Given the description of an element on the screen output the (x, y) to click on. 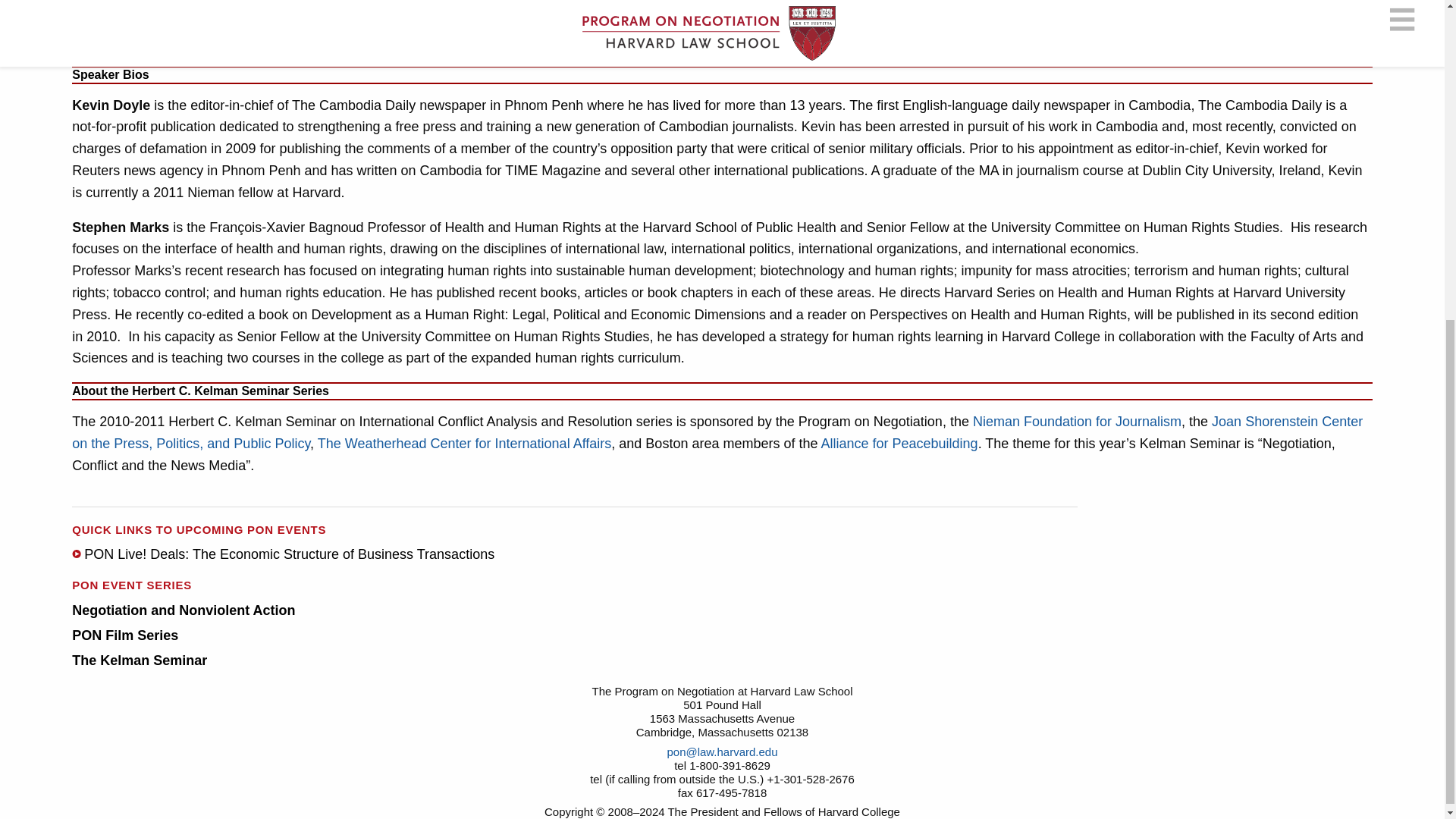
The Kelman Seminar (138, 660)
PON Film Series (124, 635)
Negotiation and Nonviolent Action (183, 610)
The Weatherhead Center for International Affairs (464, 443)
Alliance for Peacebuilding (898, 443)
Nieman Foundation for Journalism (1076, 421)
